Given the description of an element on the screen output the (x, y) to click on. 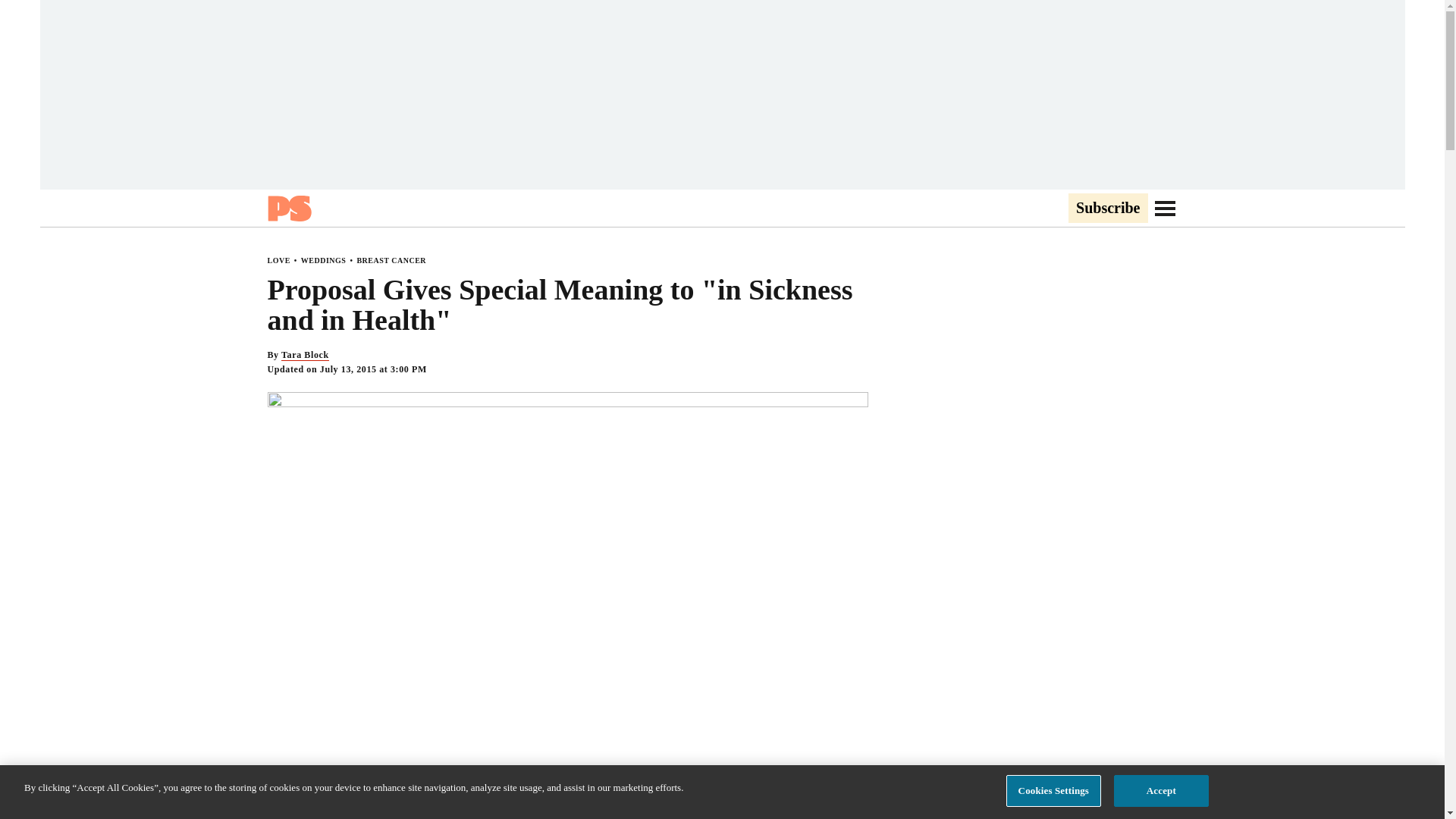
How He Asked (749, 816)
Tara Block (305, 355)
Popsugar (288, 208)
Subscribe (1107, 208)
BREAST CANCER (391, 260)
Go to Navigation (1164, 207)
Go to Navigation (1164, 207)
LOVE (277, 260)
WEDDINGS (323, 260)
